Given the description of an element on the screen output the (x, y) to click on. 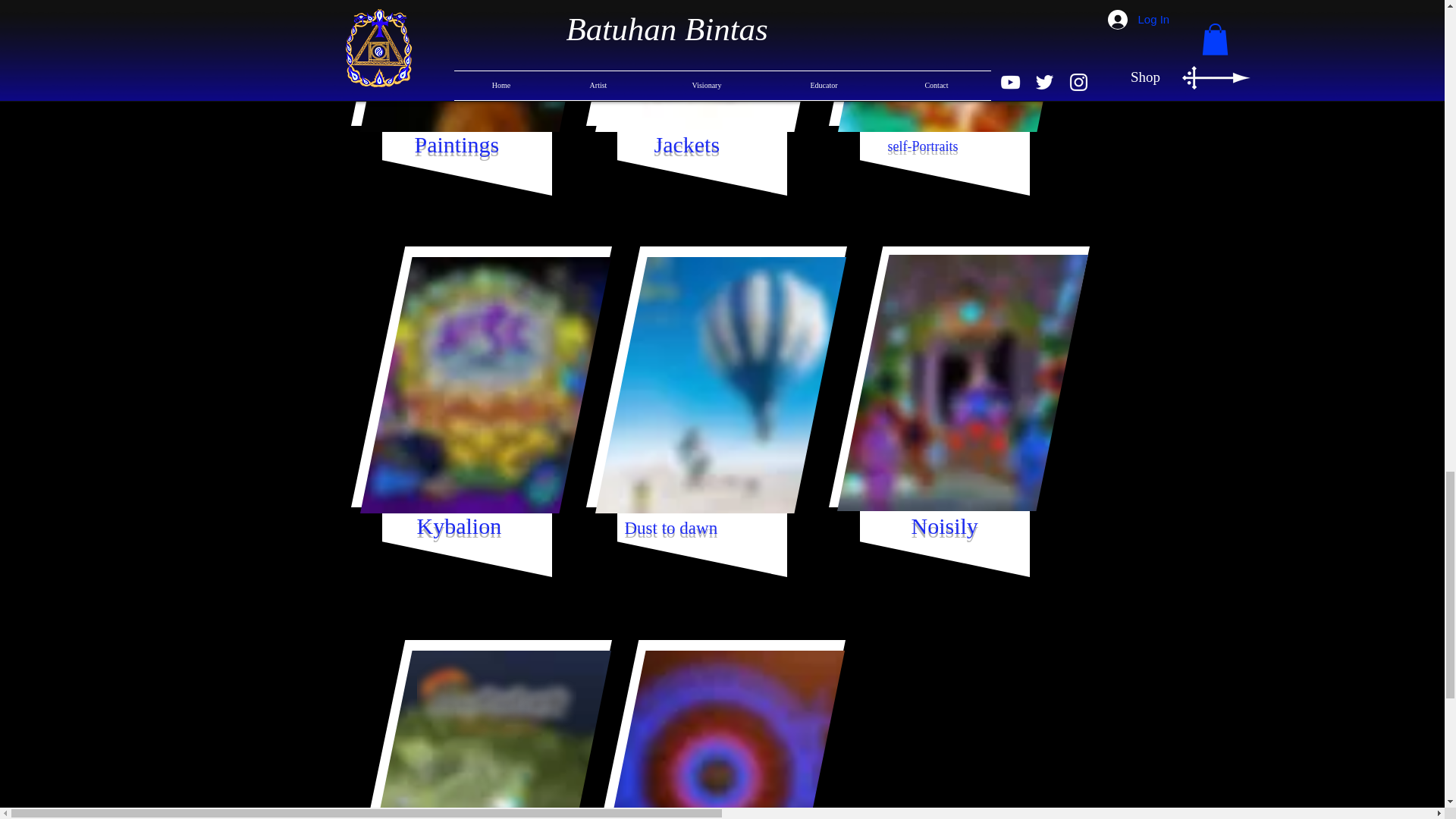
Paintings (456, 144)
self-Portraits (922, 145)
Jackets (686, 144)
